Given the description of an element on the screen output the (x, y) to click on. 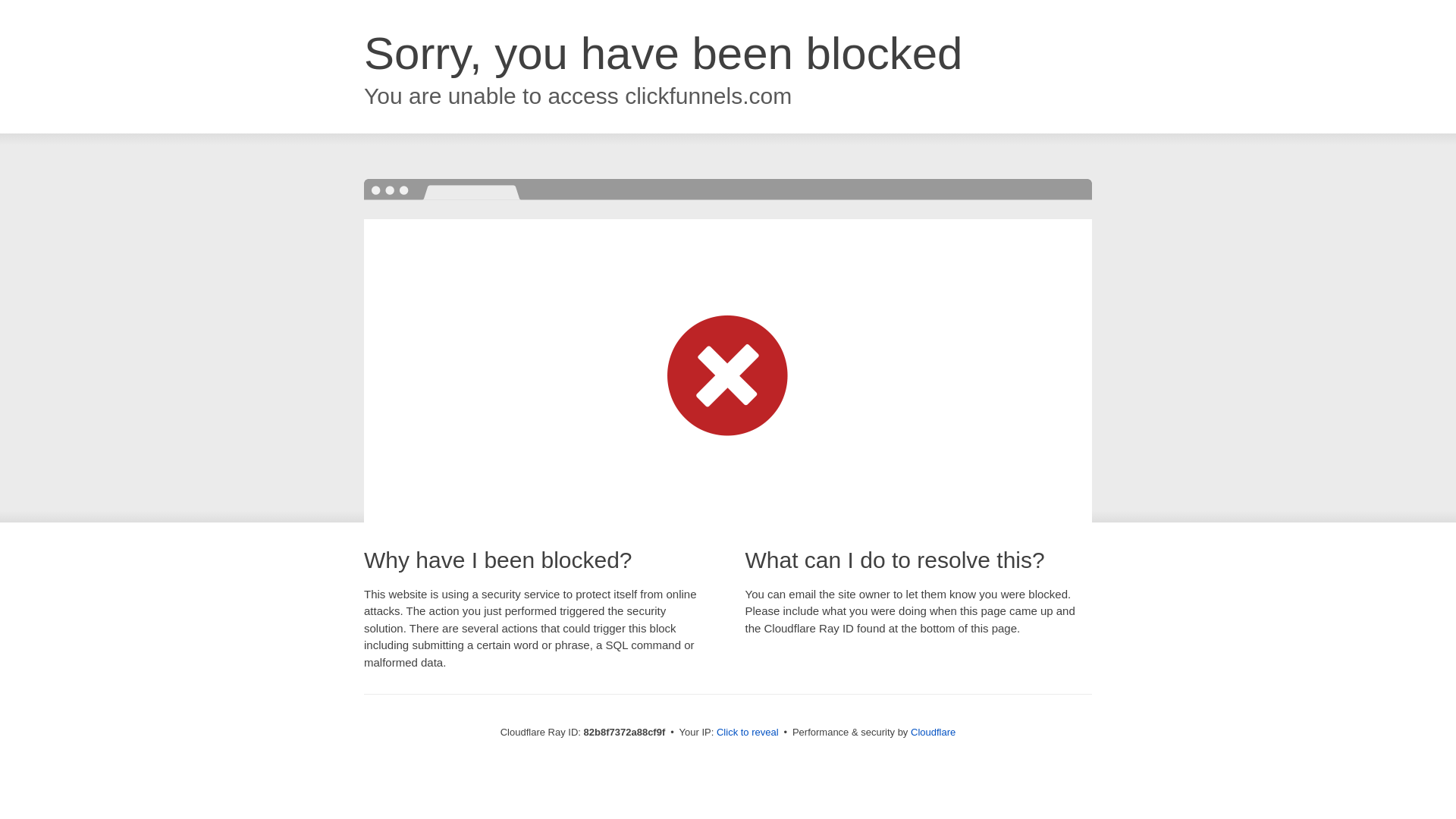
Cloudflare Element type: text (932, 731)
Click to reveal Element type: text (747, 732)
